Given the description of an element on the screen output the (x, y) to click on. 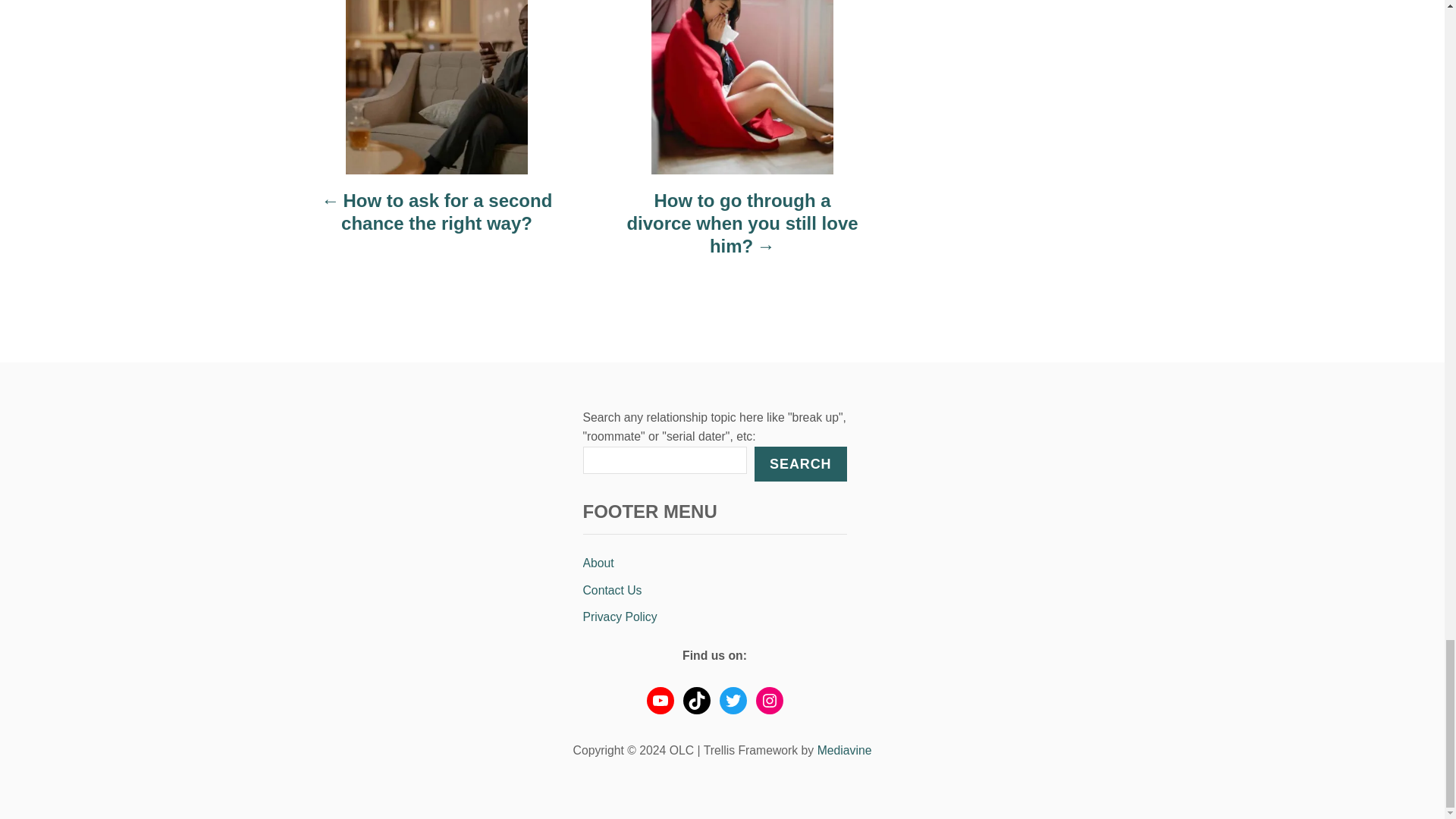
YouTube (659, 700)
SEARCH (799, 463)
Twitter (732, 700)
TikTok (696, 700)
Instagram (769, 700)
About (713, 563)
How to ask for a second chance the right way? (437, 219)
How to go through a divorce when you still love him? (741, 230)
Mediavine (844, 749)
Contact Us (713, 590)
Privacy Policy (713, 616)
